Given the description of an element on the screen output the (x, y) to click on. 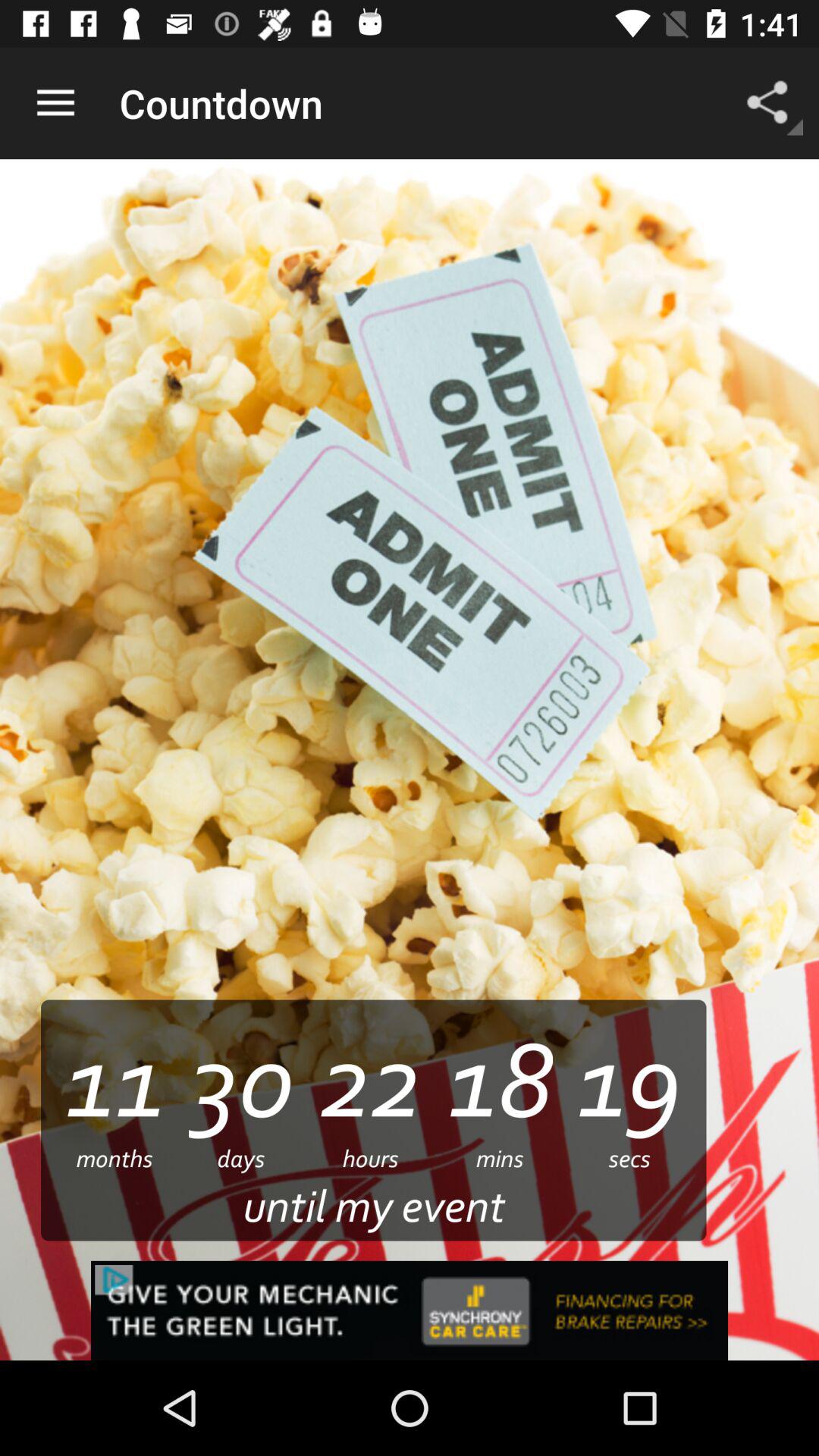
open the icon above the 11 (55, 103)
